Given the description of an element on the screen output the (x, y) to click on. 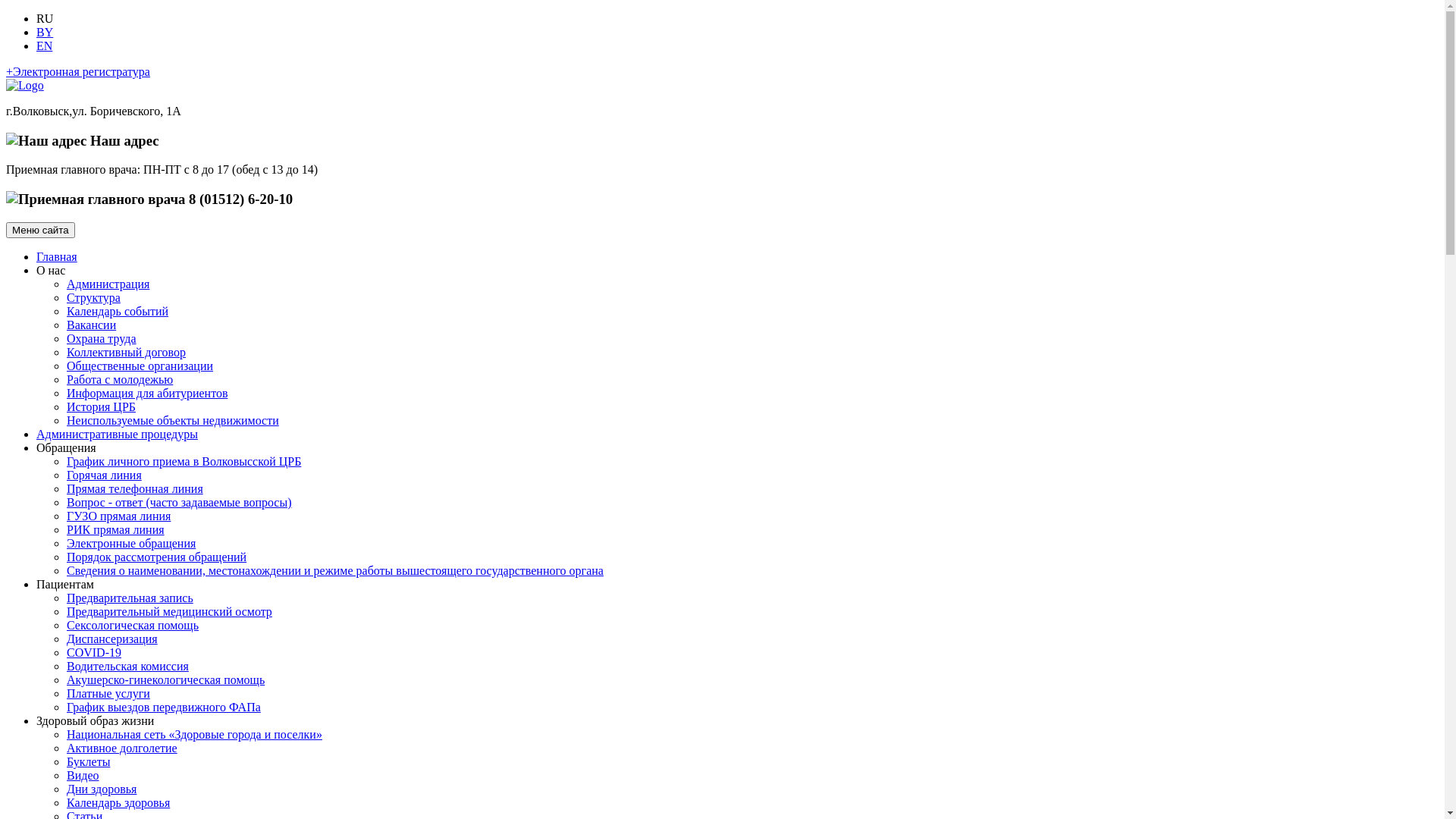
EN Element type: text (44, 45)
COVID-19 Element type: text (93, 652)
BY Element type: text (44, 31)
